Given the description of an element on the screen output the (x, y) to click on. 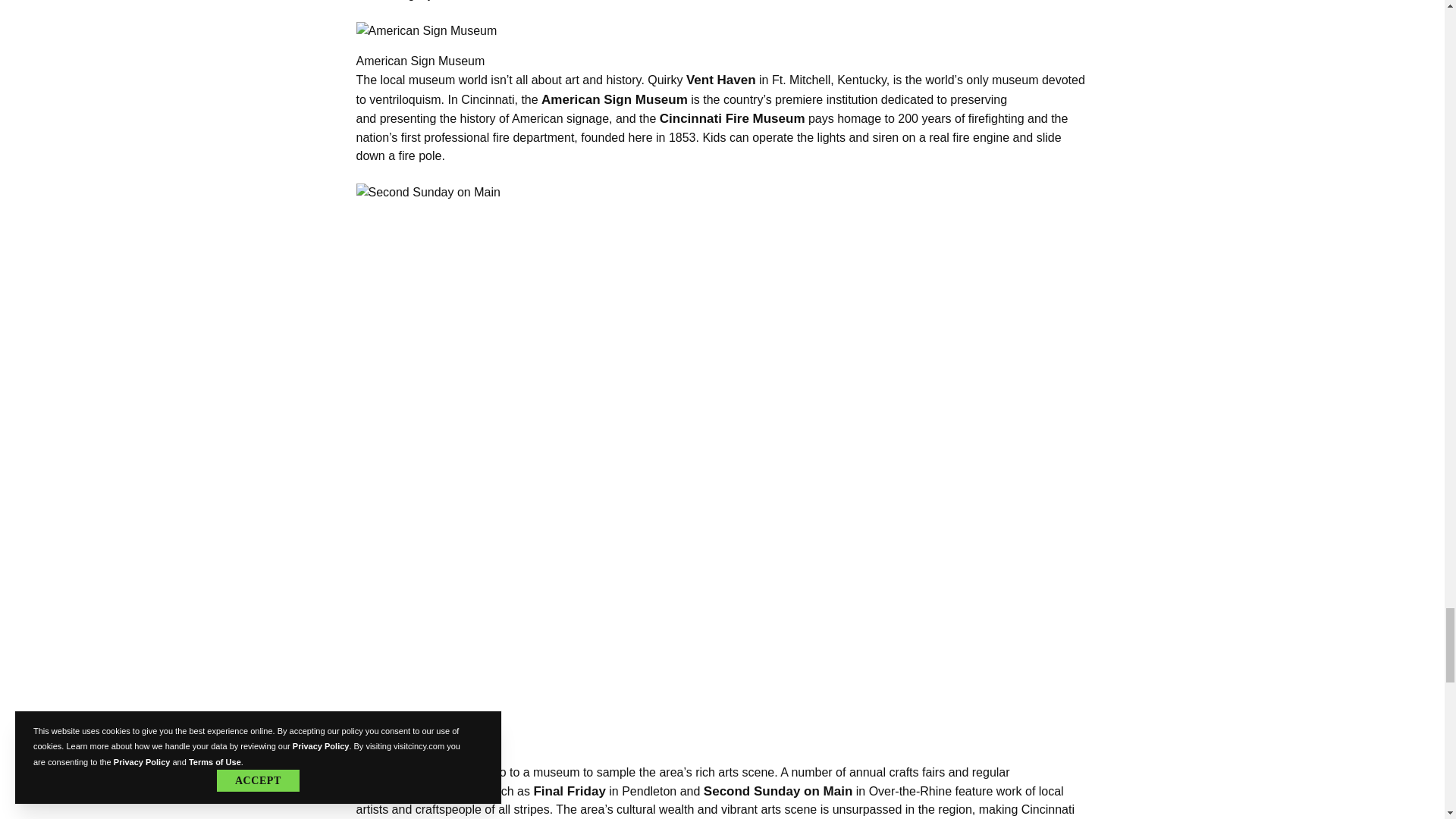
American Sign Museum (722, 31)
